Given the description of an element on the screen output the (x, y) to click on. 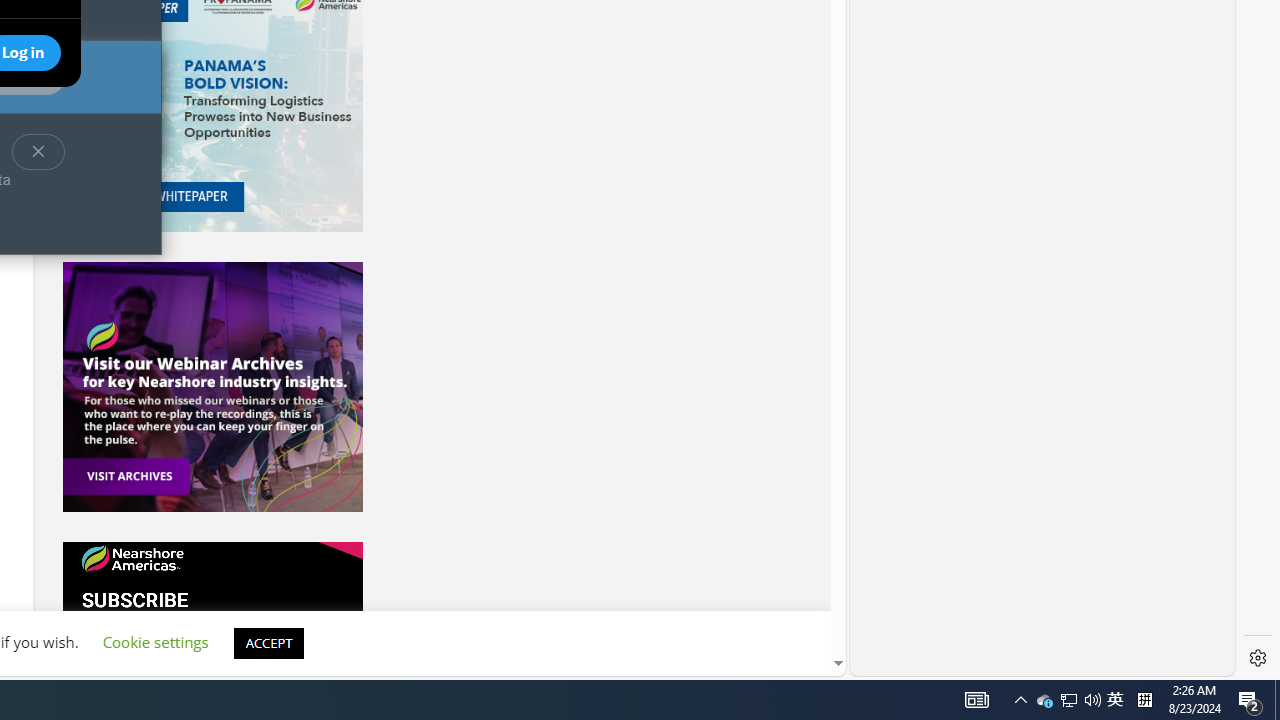
Cookie settings (155, 642)
